Given the description of an element on the screen output the (x, y) to click on. 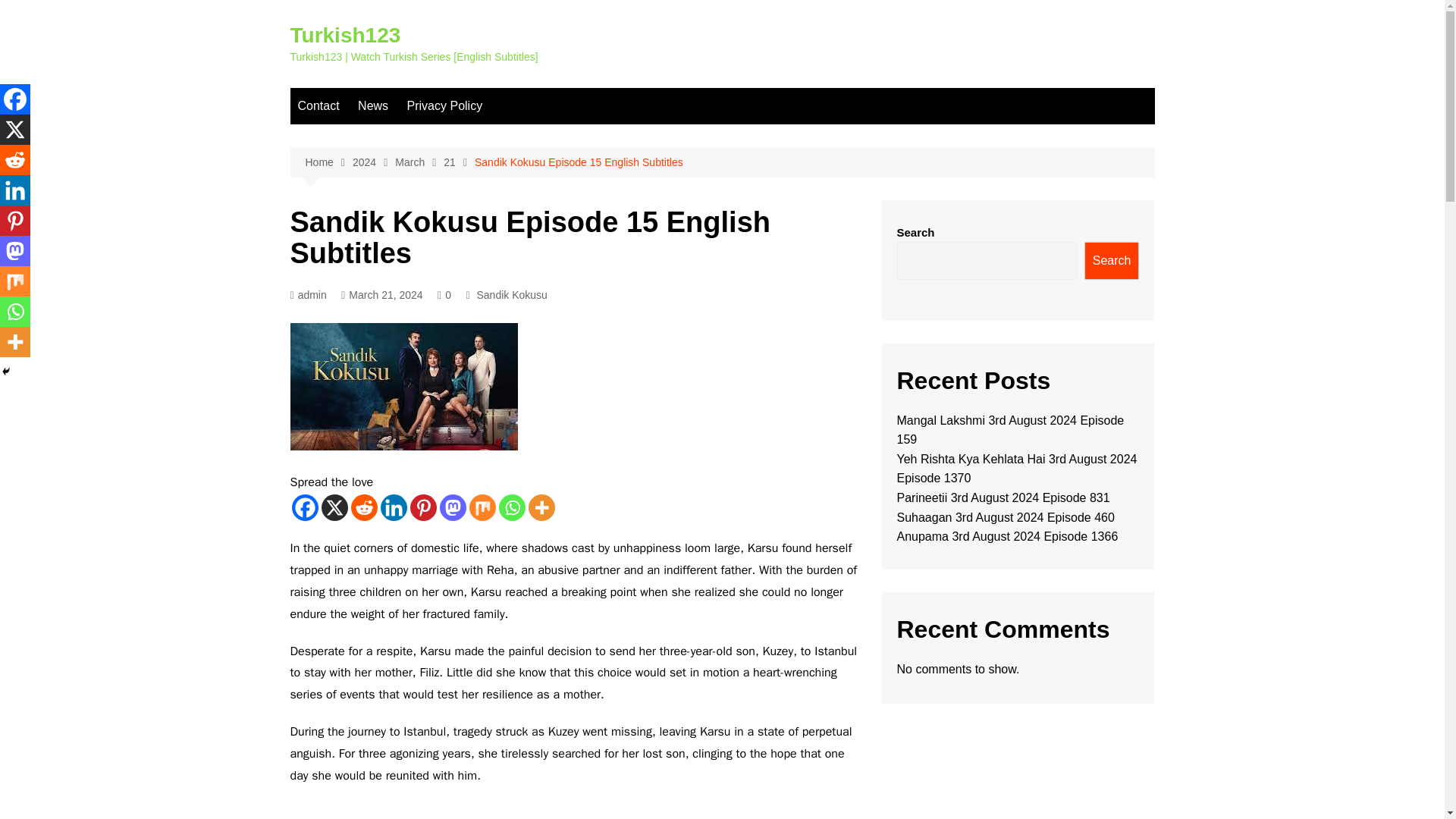
admin (307, 294)
Mix (481, 507)
Home (328, 162)
News (373, 105)
Pinterest (422, 507)
Linkedin (393, 507)
21 (459, 162)
March 21, 2024 (381, 294)
X (334, 507)
Whatsapp (512, 507)
